Given the description of an element on the screen output the (x, y) to click on. 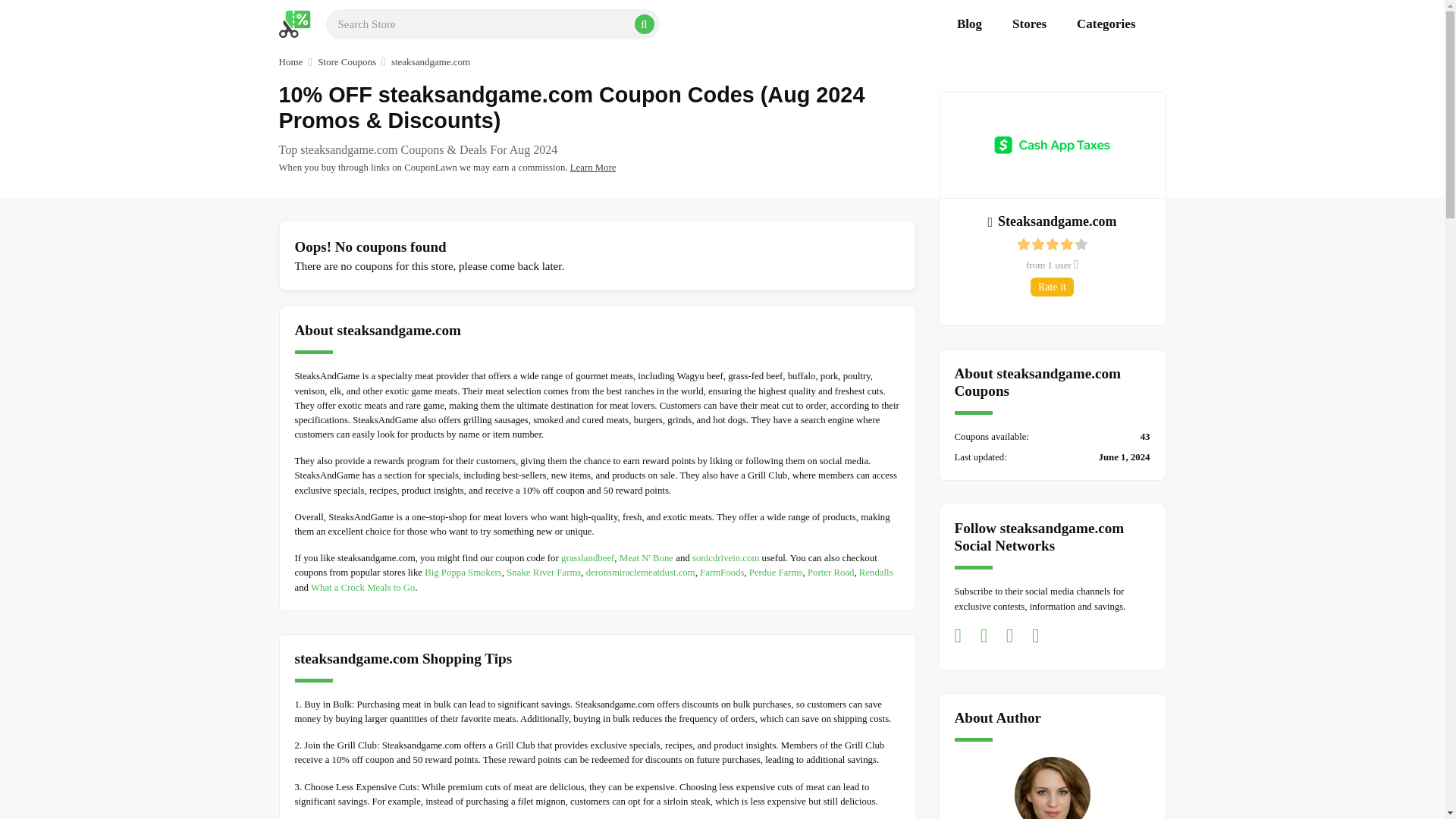
Rendalls (876, 572)
grasslandbeef (587, 557)
FarmFoods (722, 572)
Meat N' Bone (646, 557)
Categories (1106, 24)
Big Poppa Smokers (463, 572)
Store Coupons (346, 61)
Learn More (592, 167)
Perdue Farms (776, 572)
Rate it (1052, 286)
